Given the description of an element on the screen output the (x, y) to click on. 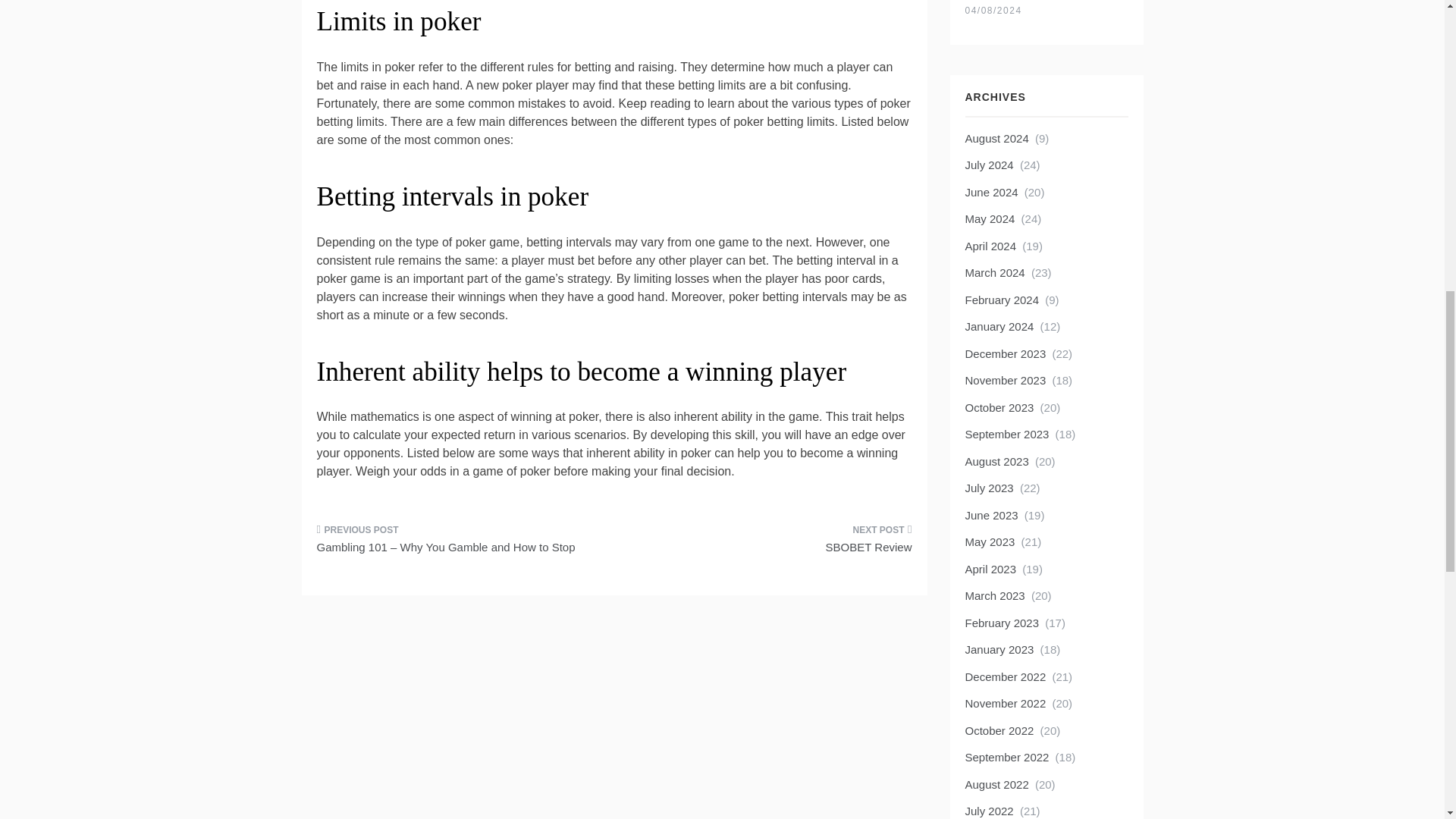
June 2024 (990, 192)
November 2023 (1004, 379)
May 2024 (988, 218)
May 2023 (988, 541)
September 2023 (1005, 433)
April 2024 (989, 245)
August 2024 (995, 137)
July 2024 (988, 164)
August 2023 (995, 461)
January 2024 (998, 326)
